Given the description of an element on the screen output the (x, y) to click on. 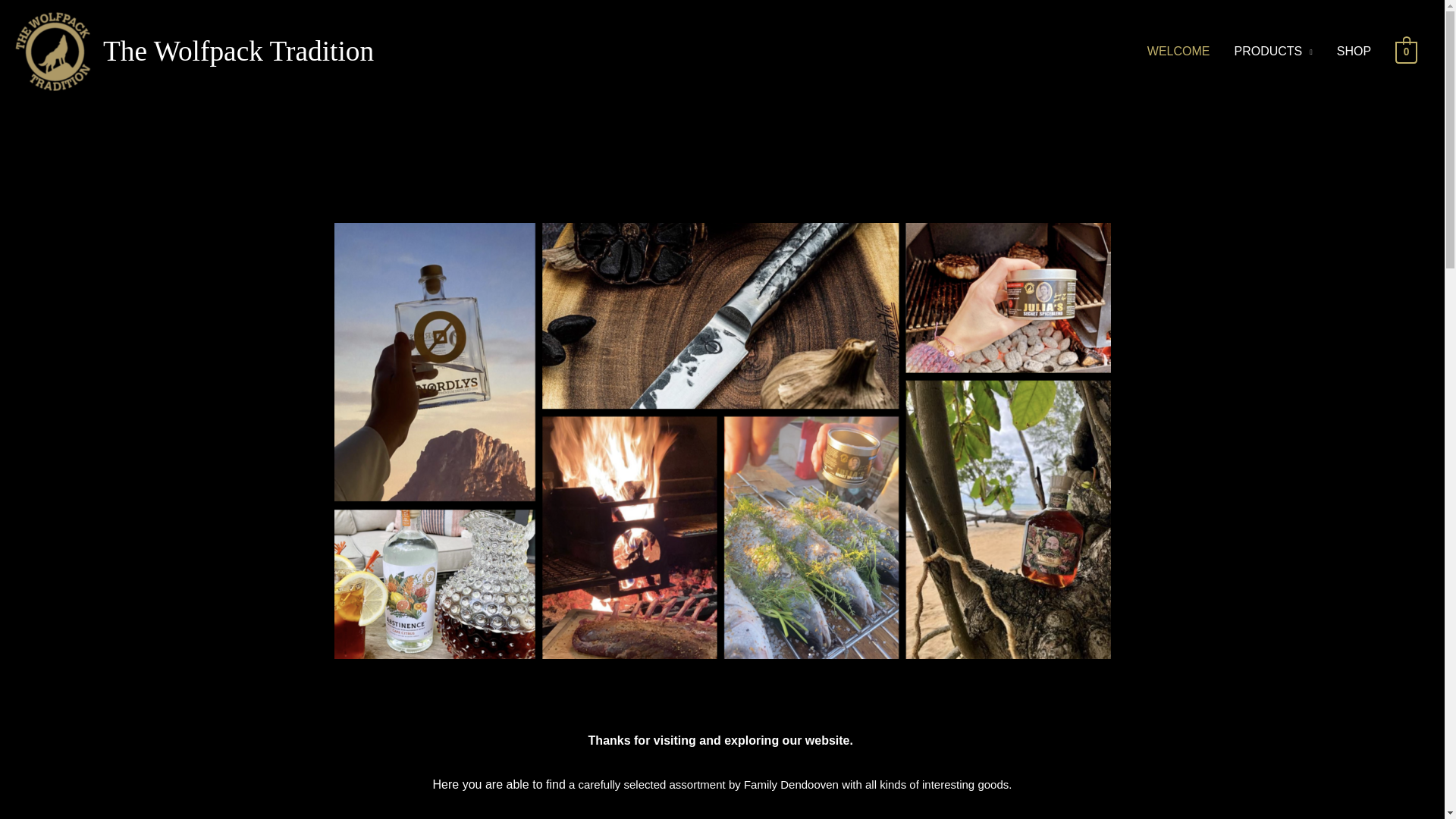
The Wolfpack Tradition (238, 51)
0 (1405, 51)
PRODUCTS (1272, 51)
